Given the description of an element on the screen output the (x, y) to click on. 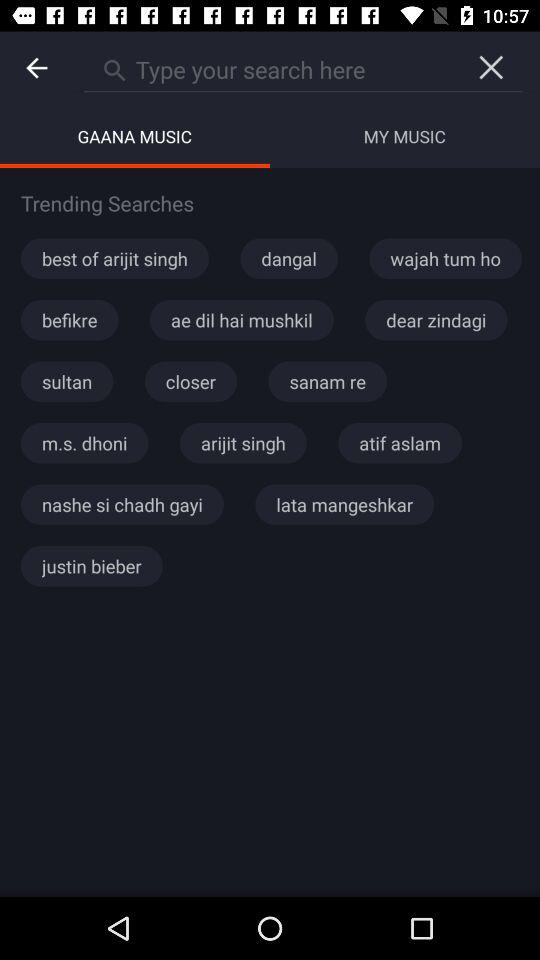
jump to m.s. dhoni (84, 443)
